Given the description of an element on the screen output the (x, y) to click on. 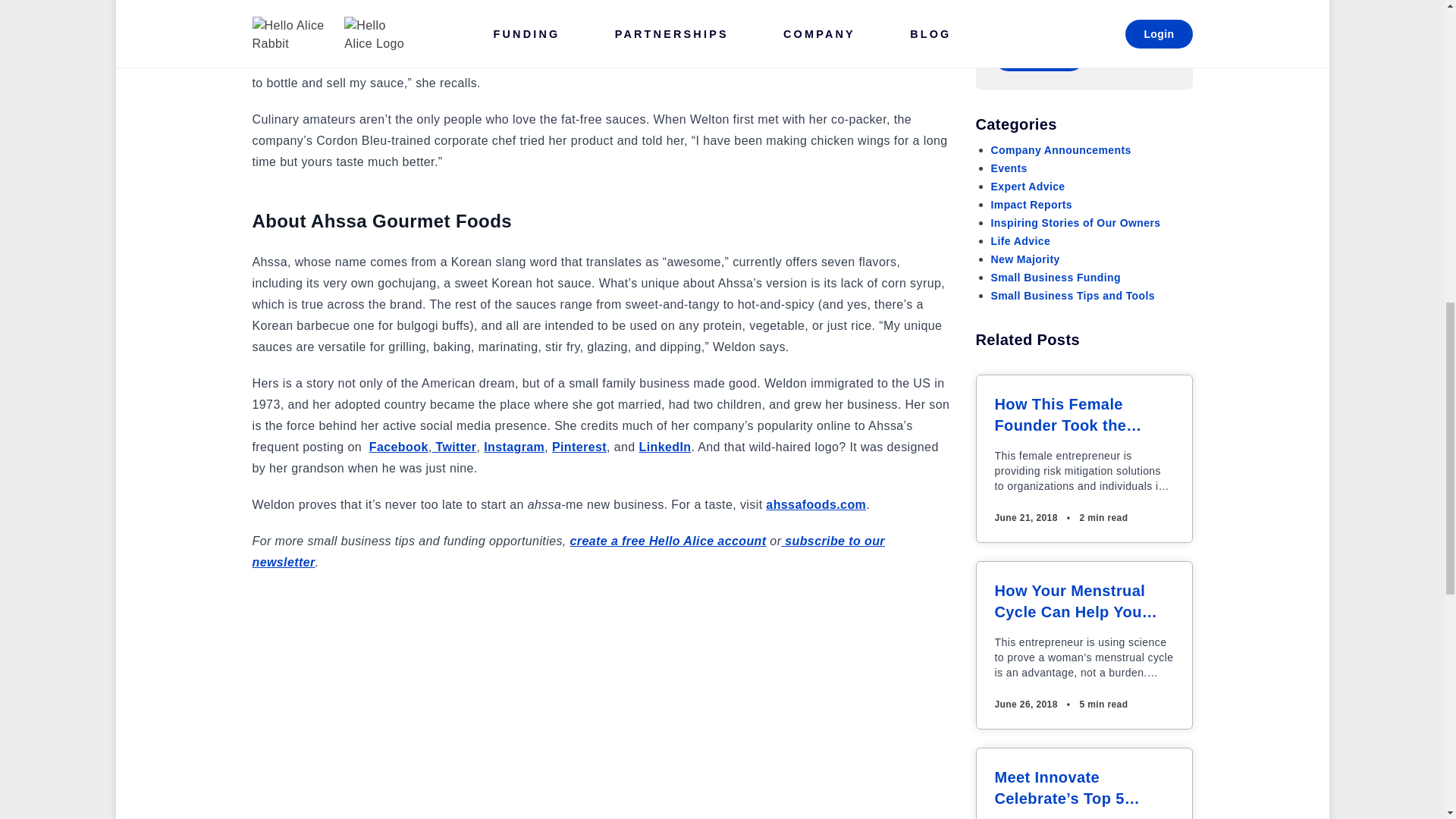
Expert Advice (1027, 186)
Inspiring Stories of Our Owners (1075, 223)
Facebook (398, 446)
Life Advice (1019, 241)
Small Business Tips and Tools (1072, 295)
Twitter (454, 446)
Subscribe (1037, 56)
 subscribe to our newsletter (567, 551)
New Majority (1024, 259)
ahssafoods.com (815, 504)
